Given the description of an element on the screen output the (x, y) to click on. 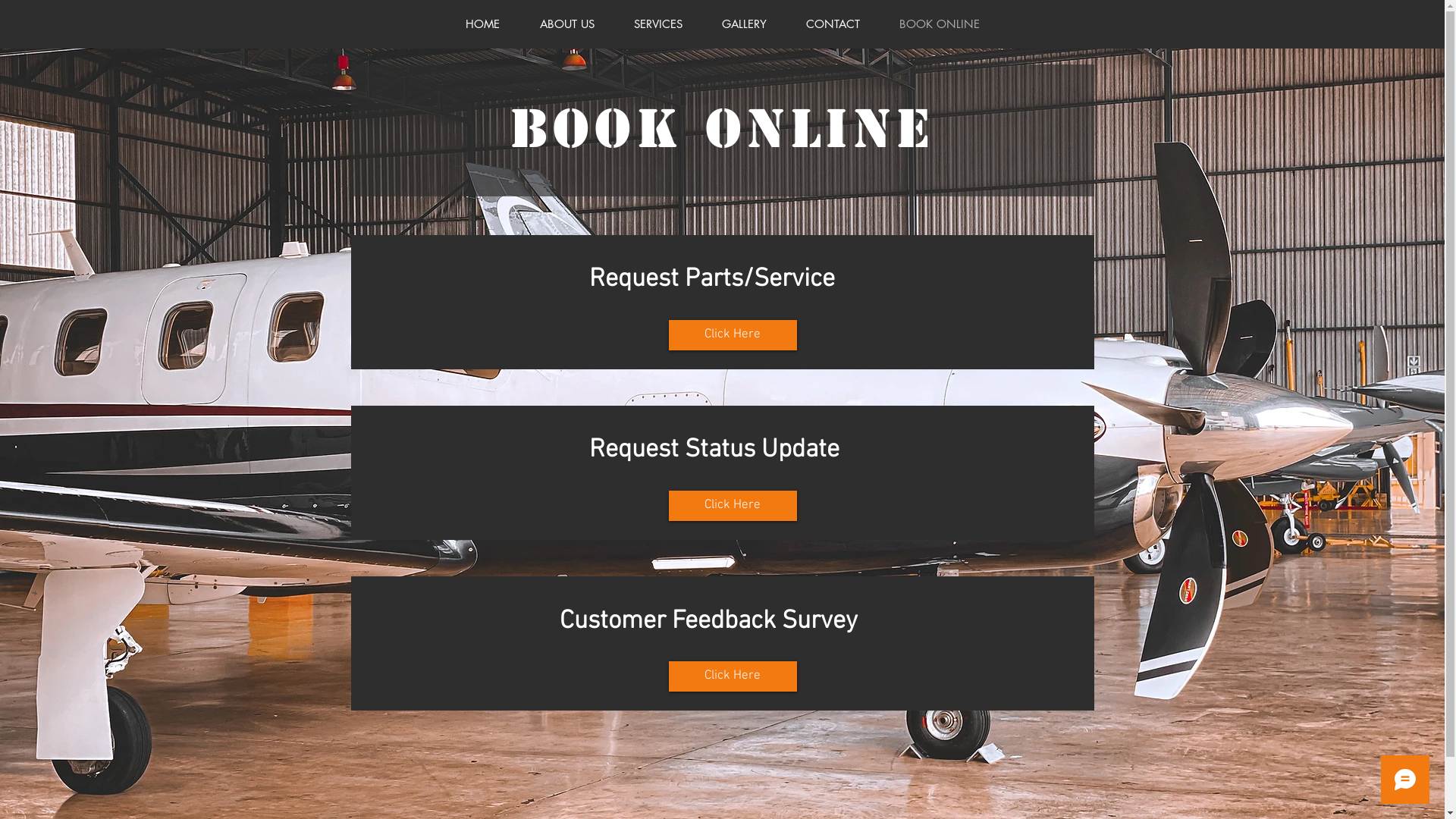
SERVICES Element type: text (658, 24)
BOOK ONLINE Element type: text (939, 24)
GALLERY Element type: text (744, 24)
CONTACT Element type: text (831, 24)
Click Here Element type: text (732, 505)
HOME Element type: text (482, 24)
Click Here Element type: text (732, 676)
Click Here Element type: text (732, 335)
ABOUT US Element type: text (567, 24)
